Given the description of an element on the screen output the (x, y) to click on. 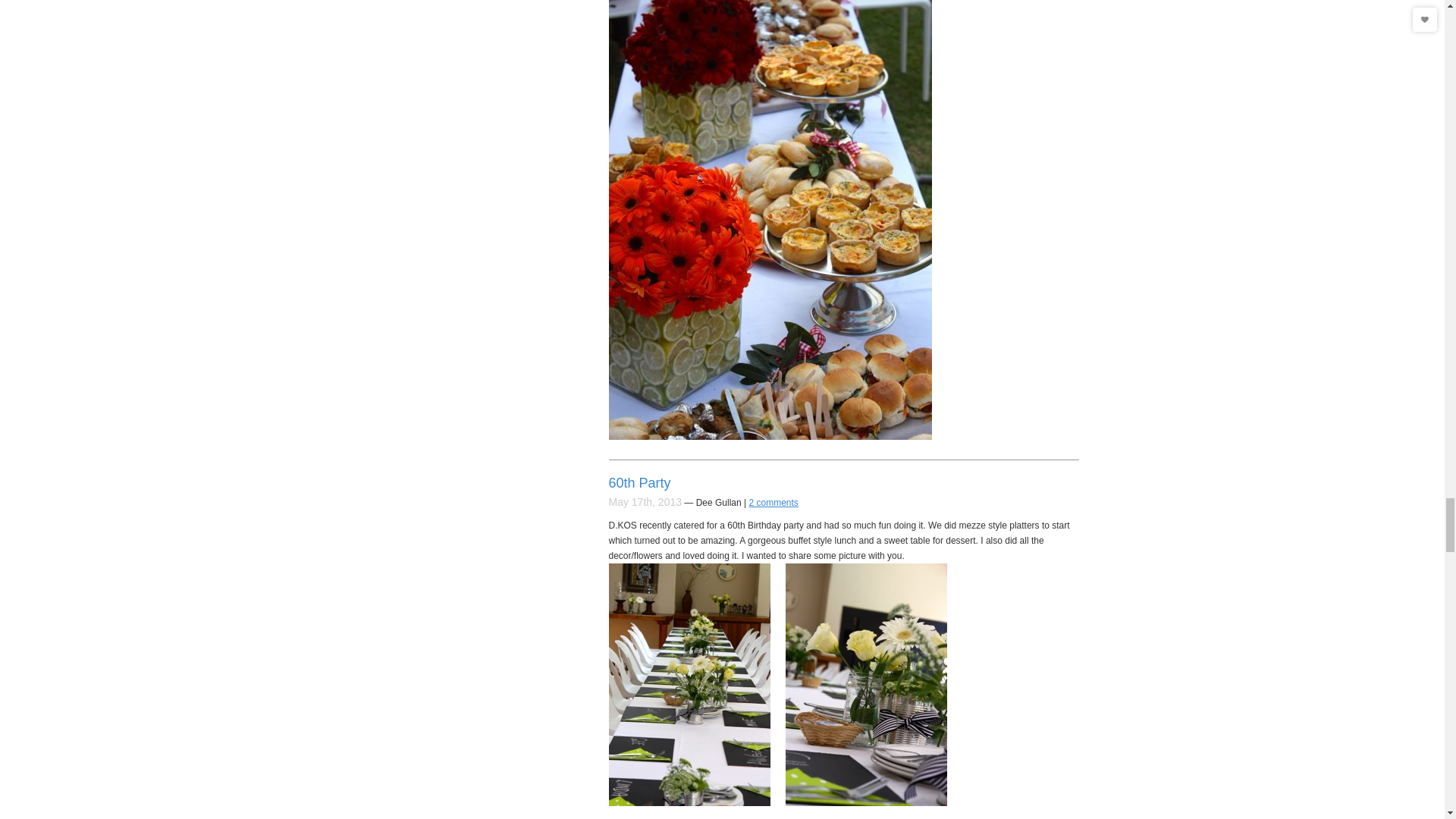
60th Party (638, 482)
2 comments (773, 502)
